Given the description of an element on the screen output the (x, y) to click on. 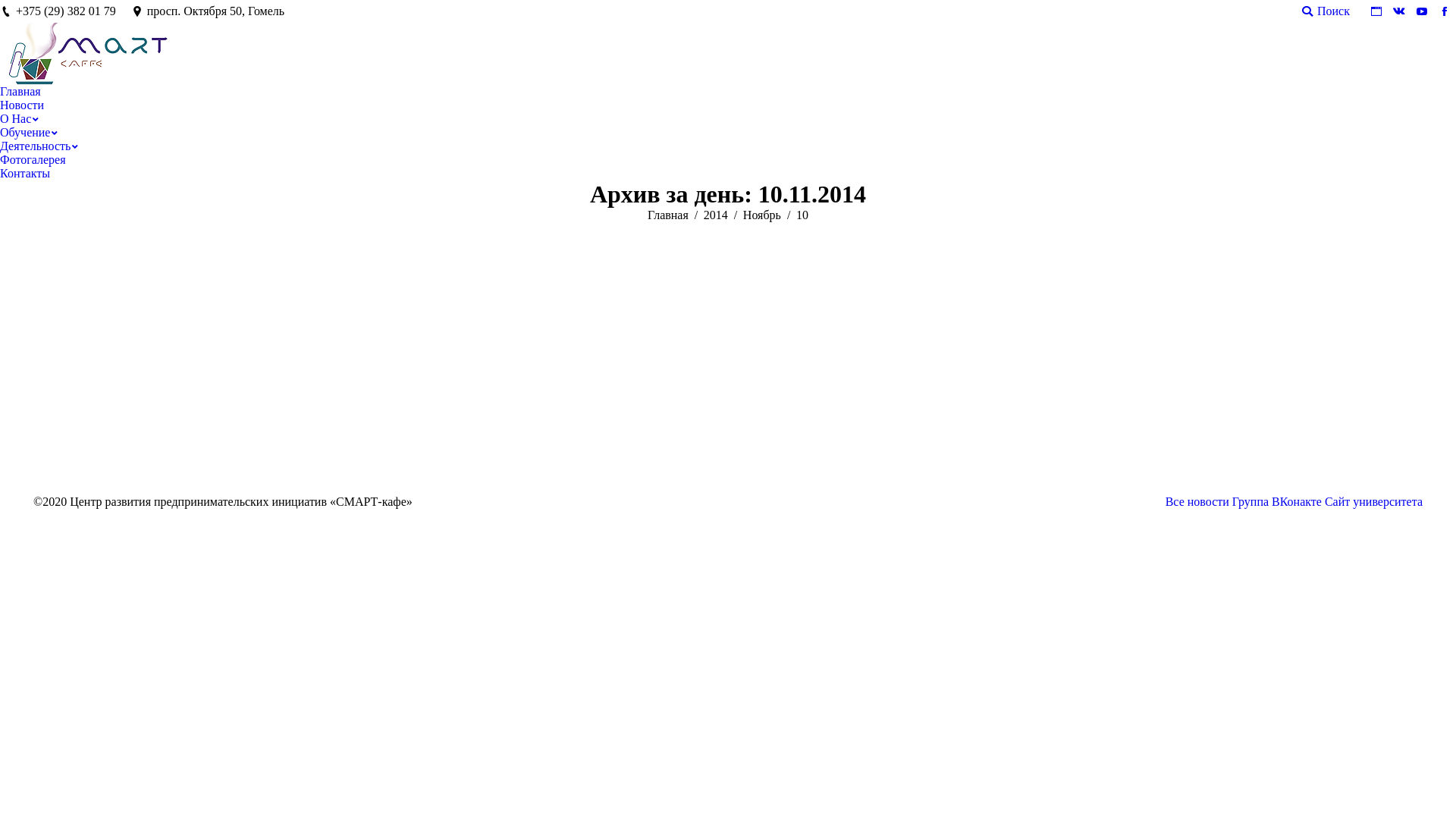
2014 Element type: text (715, 214)
Facebook Element type: text (1444, 11)
YouTube Element type: text (1421, 11)
